Given the description of an element on the screen output the (x, y) to click on. 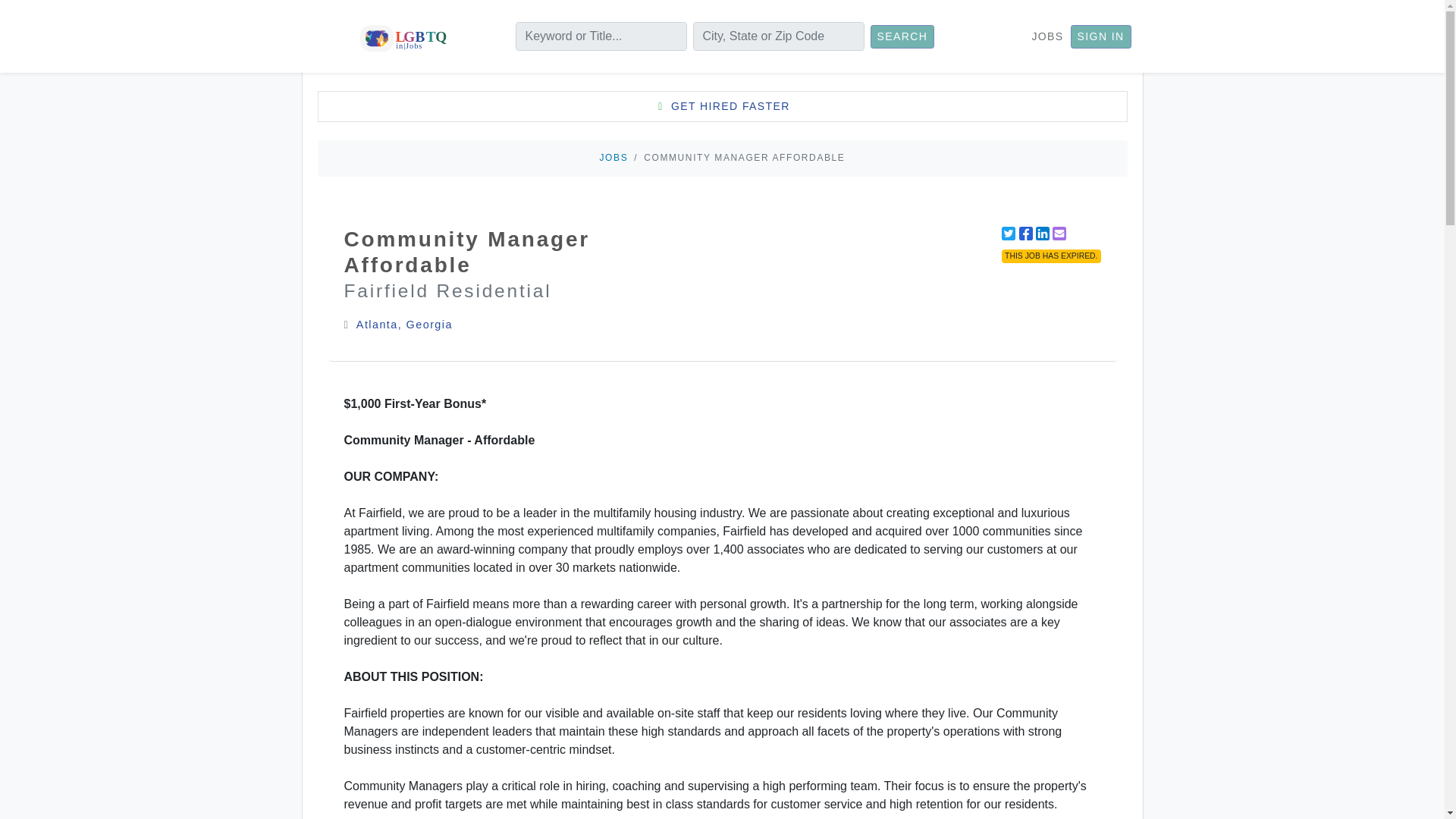
JOBS (613, 157)
Atlanta, Georgia (404, 324)
